Given the description of an element on the screen output the (x, y) to click on. 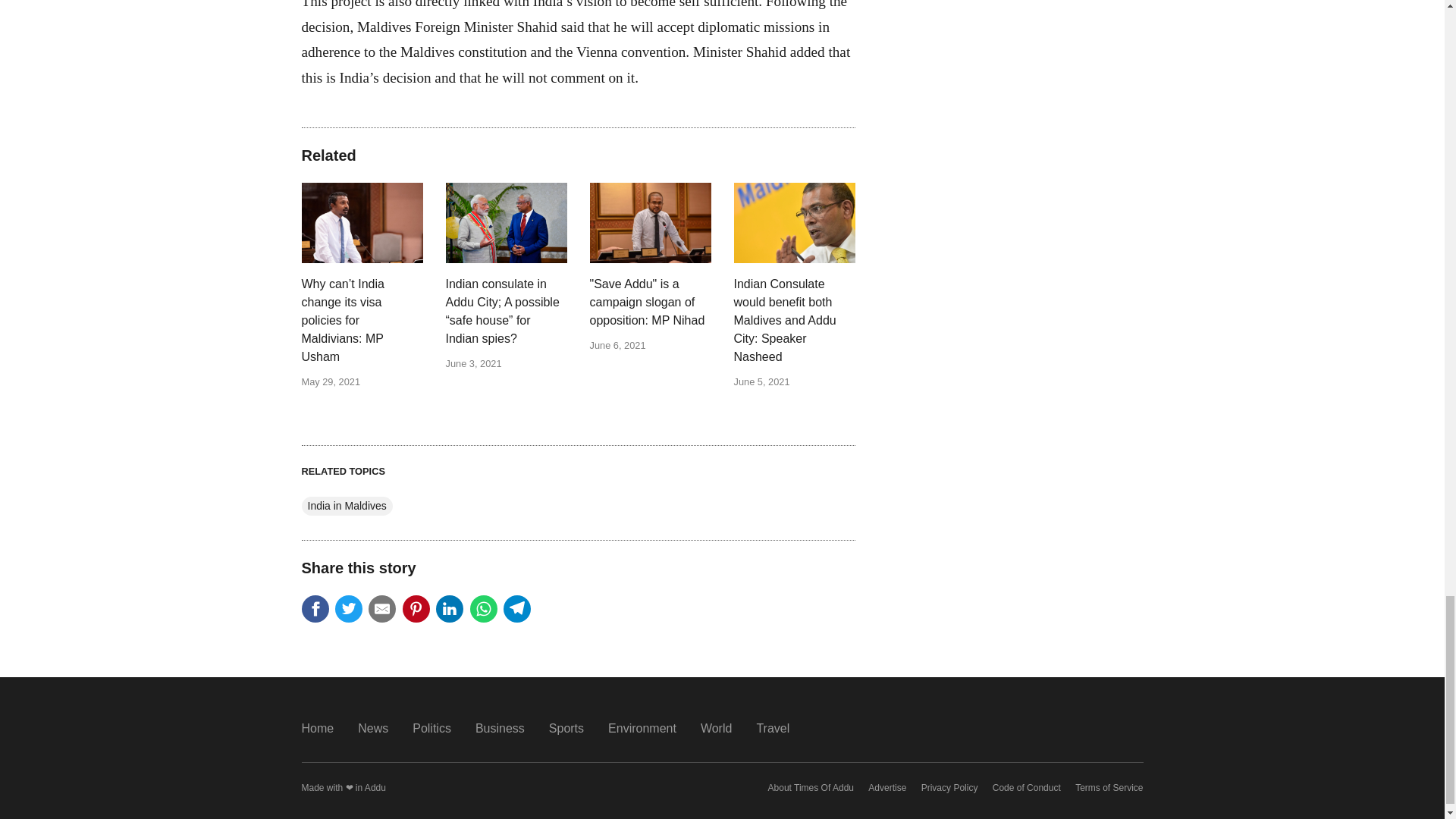
"Save Addu" is a campaign slogan of opposition: MP Nihad (650, 302)
India in Maldives (347, 505)
